Given the description of an element on the screen output the (x, y) to click on. 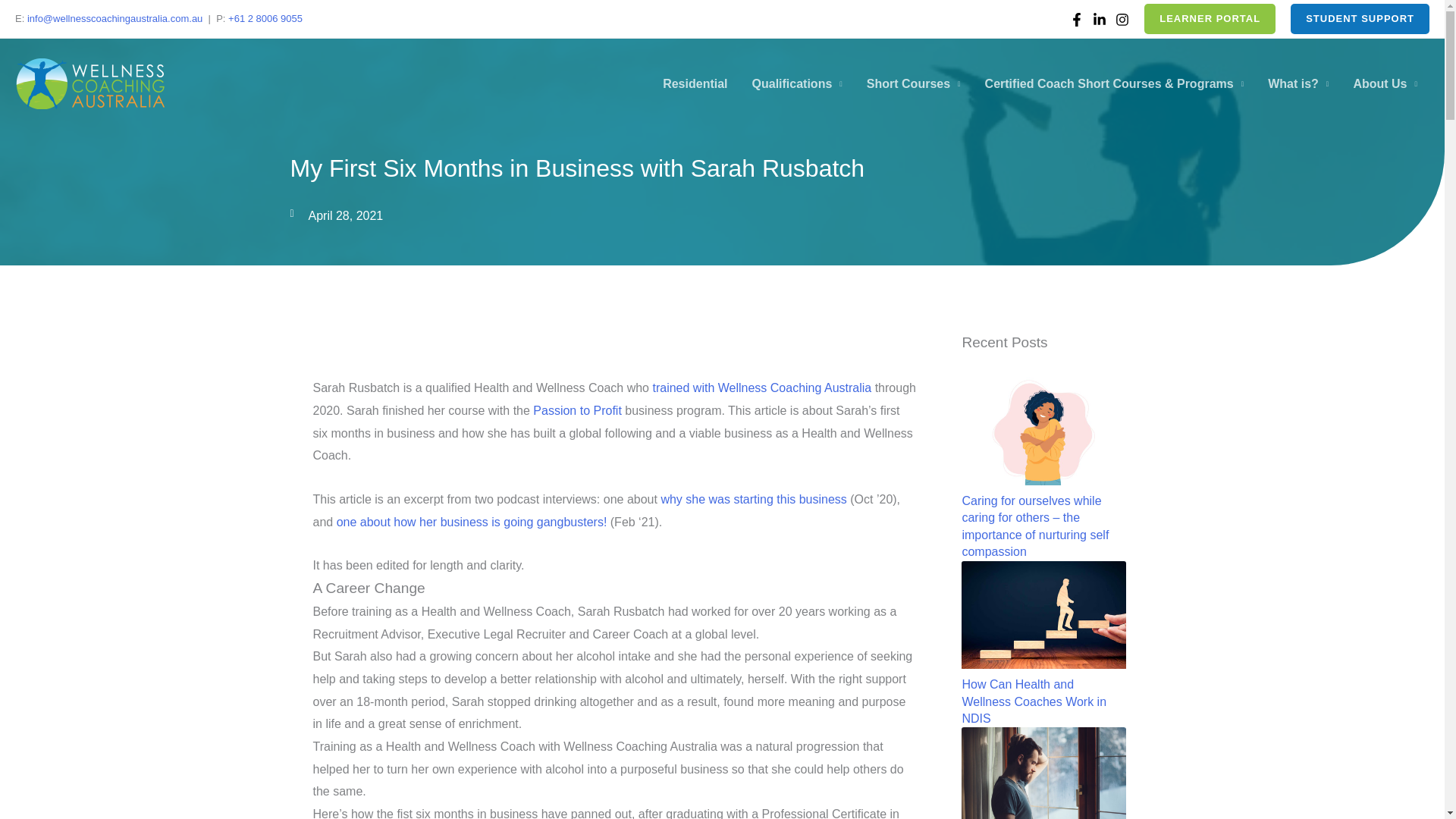
Qualifications (796, 83)
LEARNER PORTAL (1209, 19)
STUDENT SUPPORT (1359, 19)
Short Courses (913, 83)
Residential (694, 83)
What is? (1297, 83)
